Given the description of an element on the screen output the (x, y) to click on. 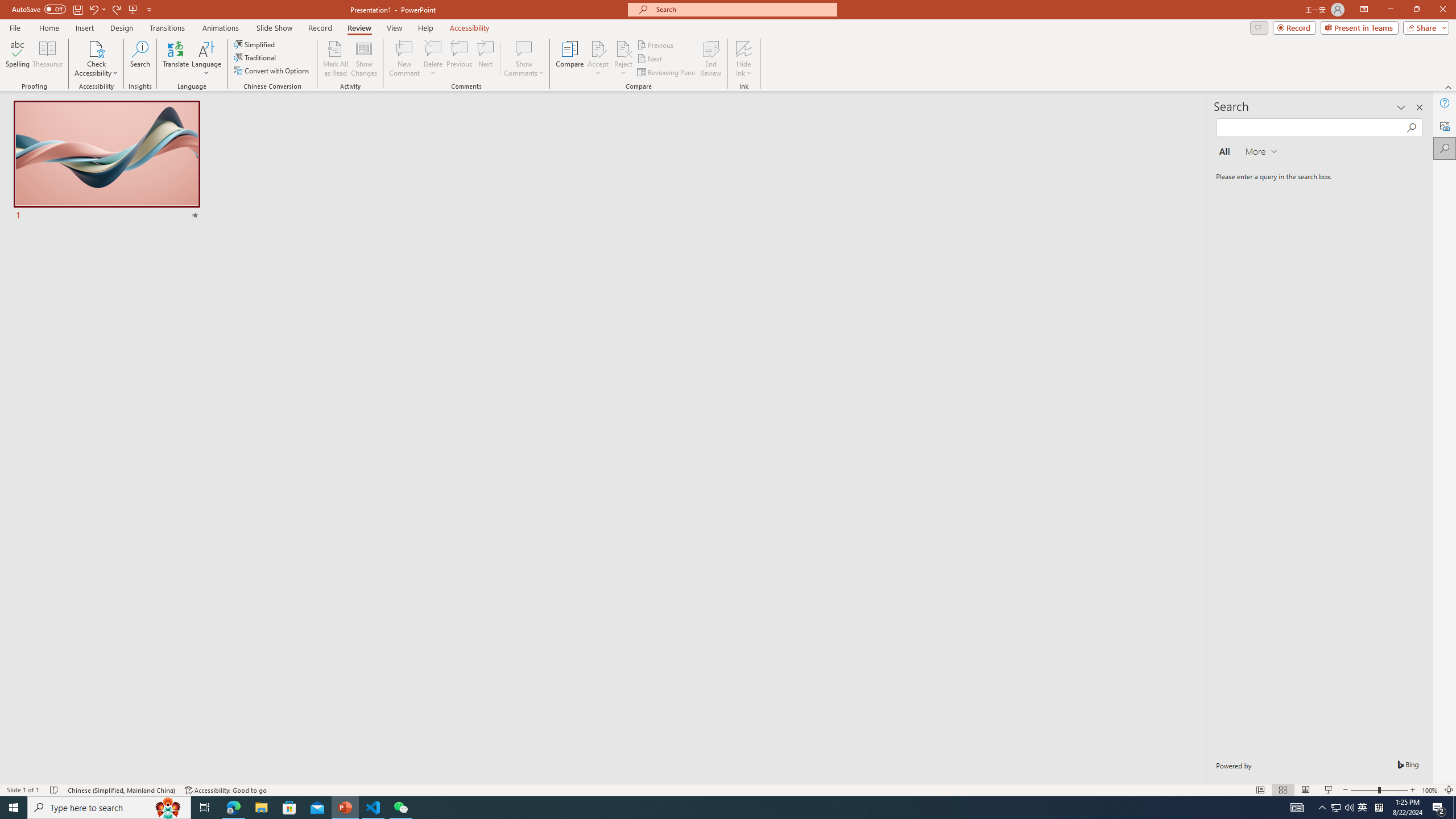
Reject (622, 58)
Show Comments (524, 48)
Spelling... (17, 58)
End Review (710, 58)
Reviewing Pane (666, 72)
